Given the description of an element on the screen output the (x, y) to click on. 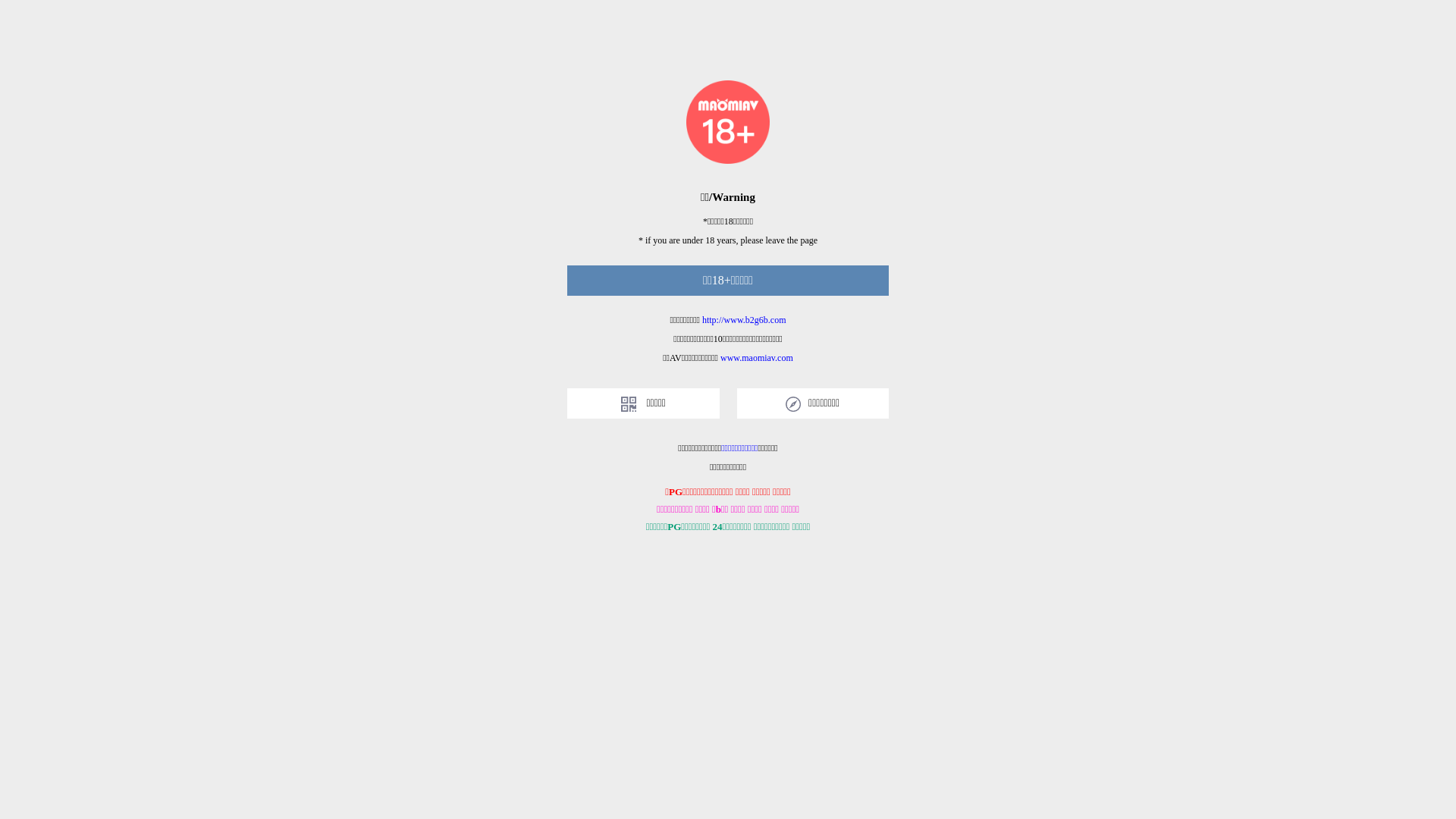
www.maomiav.com Element type: text (756, 357)
http://www.b2g6b.com Element type: text (744, 319)
